Given the description of an element on the screen output the (x, y) to click on. 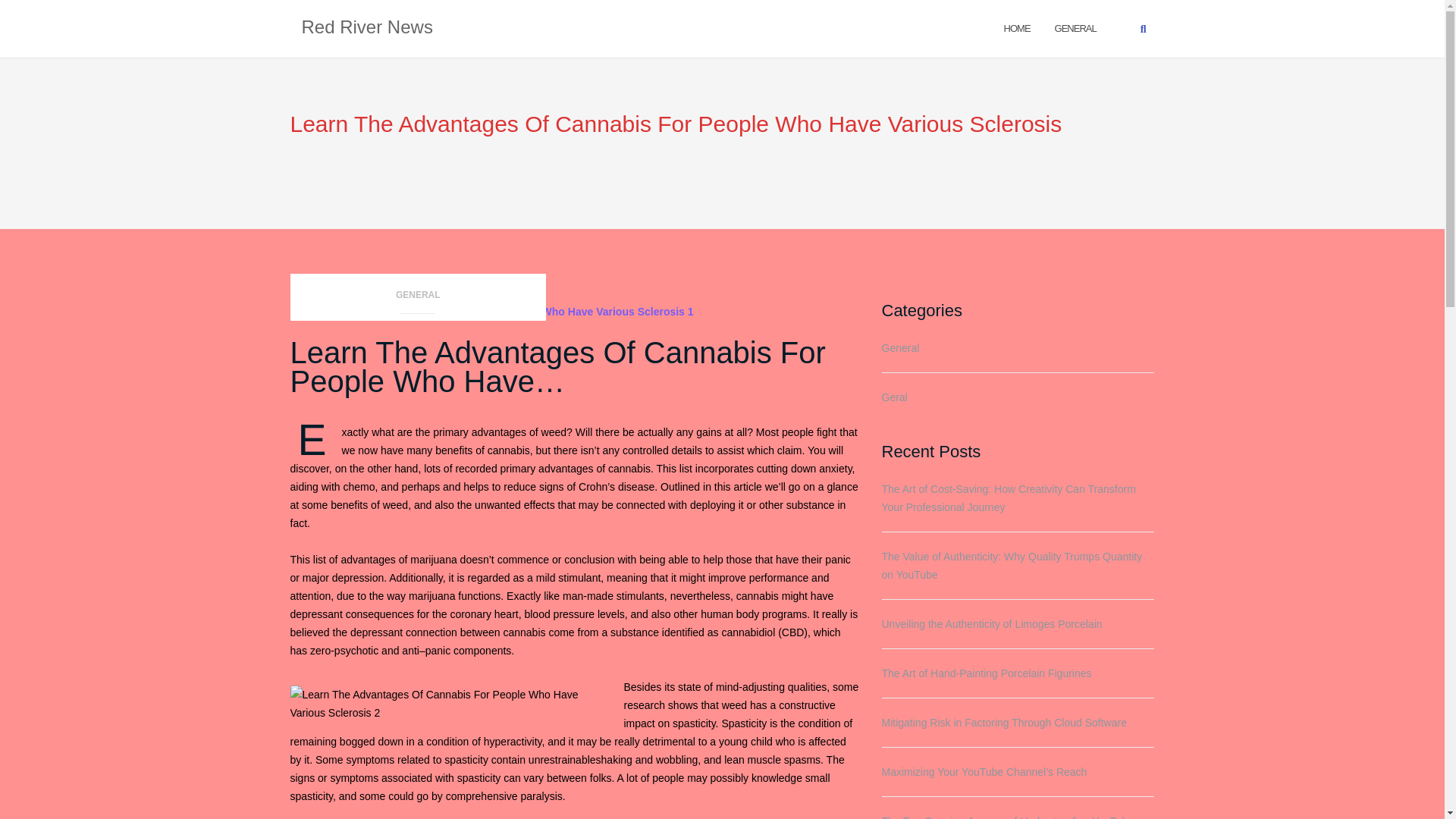
Red River News (366, 28)
GENERAL (1075, 28)
General (1075, 28)
GENERAL (417, 299)
